Given the description of an element on the screen output the (x, y) to click on. 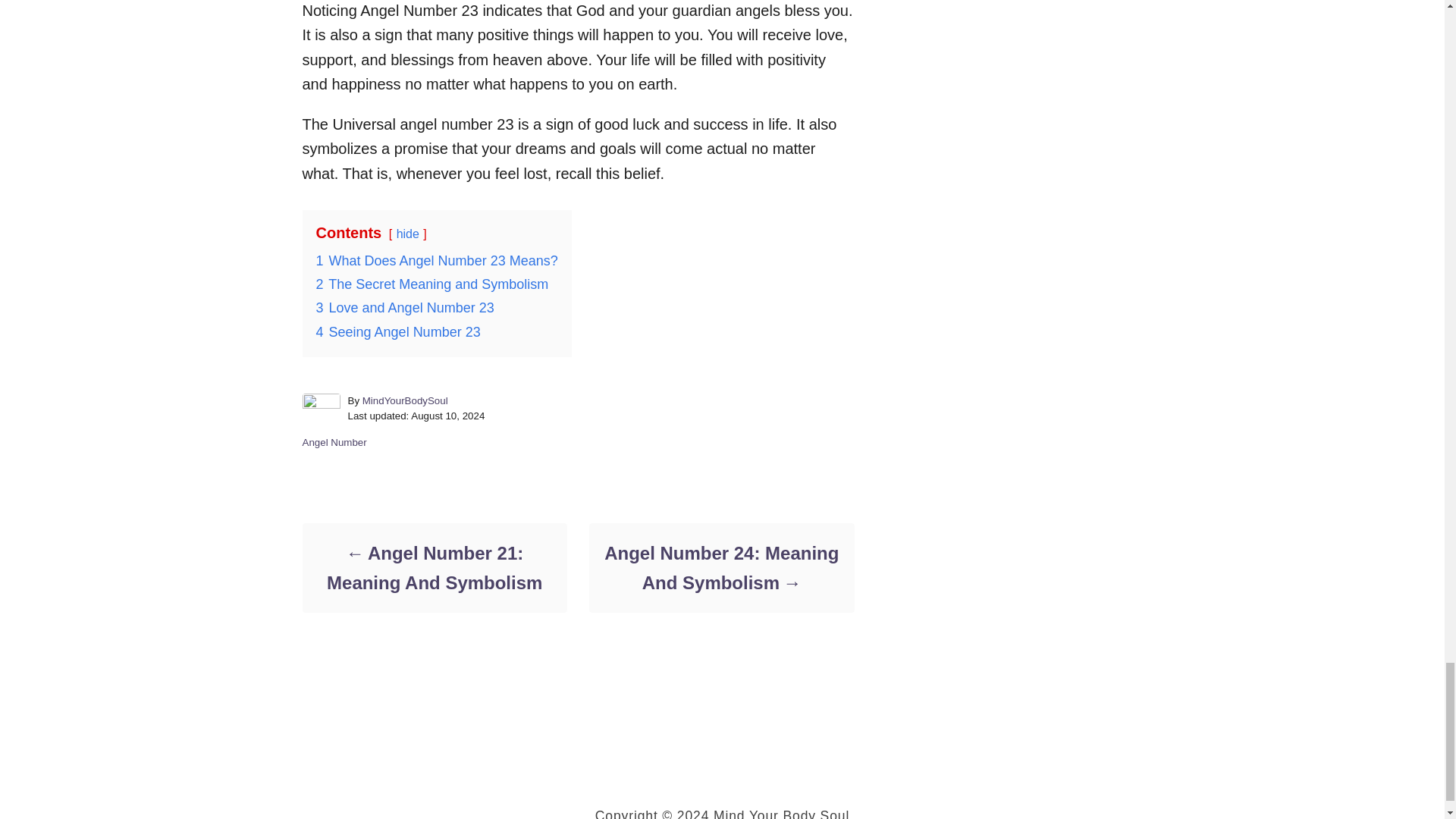
4 Seeing Angel Number 23 (397, 331)
Angel Number 24: Meaning And Symbolism (721, 567)
hide (407, 233)
2 The Secret Meaning and Symbolism (431, 283)
1 What Does Angel Number 23 Means? (436, 260)
Angel Number 21: Meaning And Symbolism (434, 567)
Angel Number (333, 441)
3 Love and Angel Number 23 (404, 307)
MindYourBodySoul (405, 400)
